Given the description of an element on the screen output the (x, y) to click on. 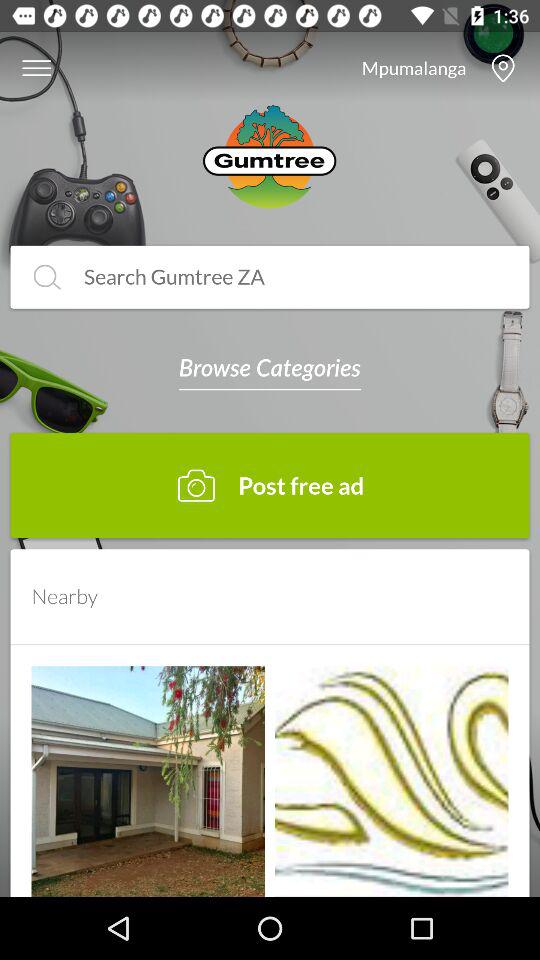
click on search button symbol above browse categories (47, 276)
